Given the description of an element on the screen output the (x, y) to click on. 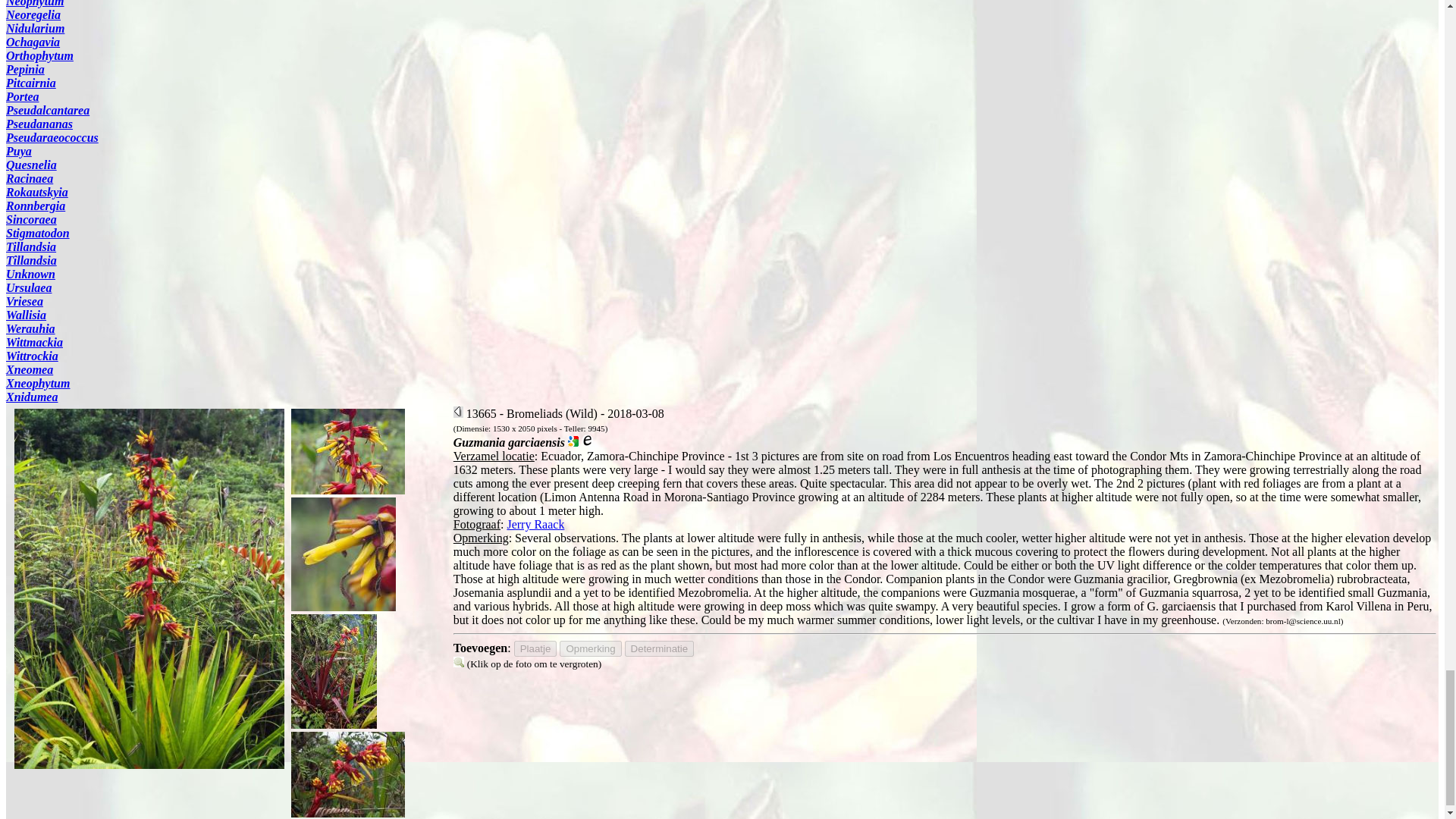
Determinatie (659, 648)
Plaats een nieuwe Determinatie bij dit plaatje (659, 648)
Search the Encyclopaedia (587, 441)
Opmerking (590, 648)
Plaats een nieuwe opmerking bij dit plaatje (590, 648)
Plaatje (535, 648)
